Given the description of an element on the screen output the (x, y) to click on. 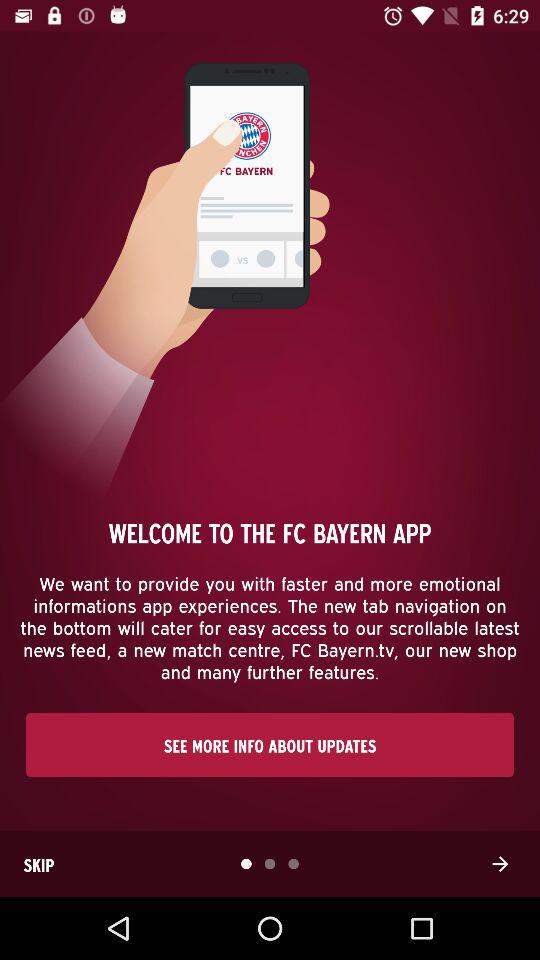
swipe until skip item (39, 864)
